Given the description of an element on the screen output the (x, y) to click on. 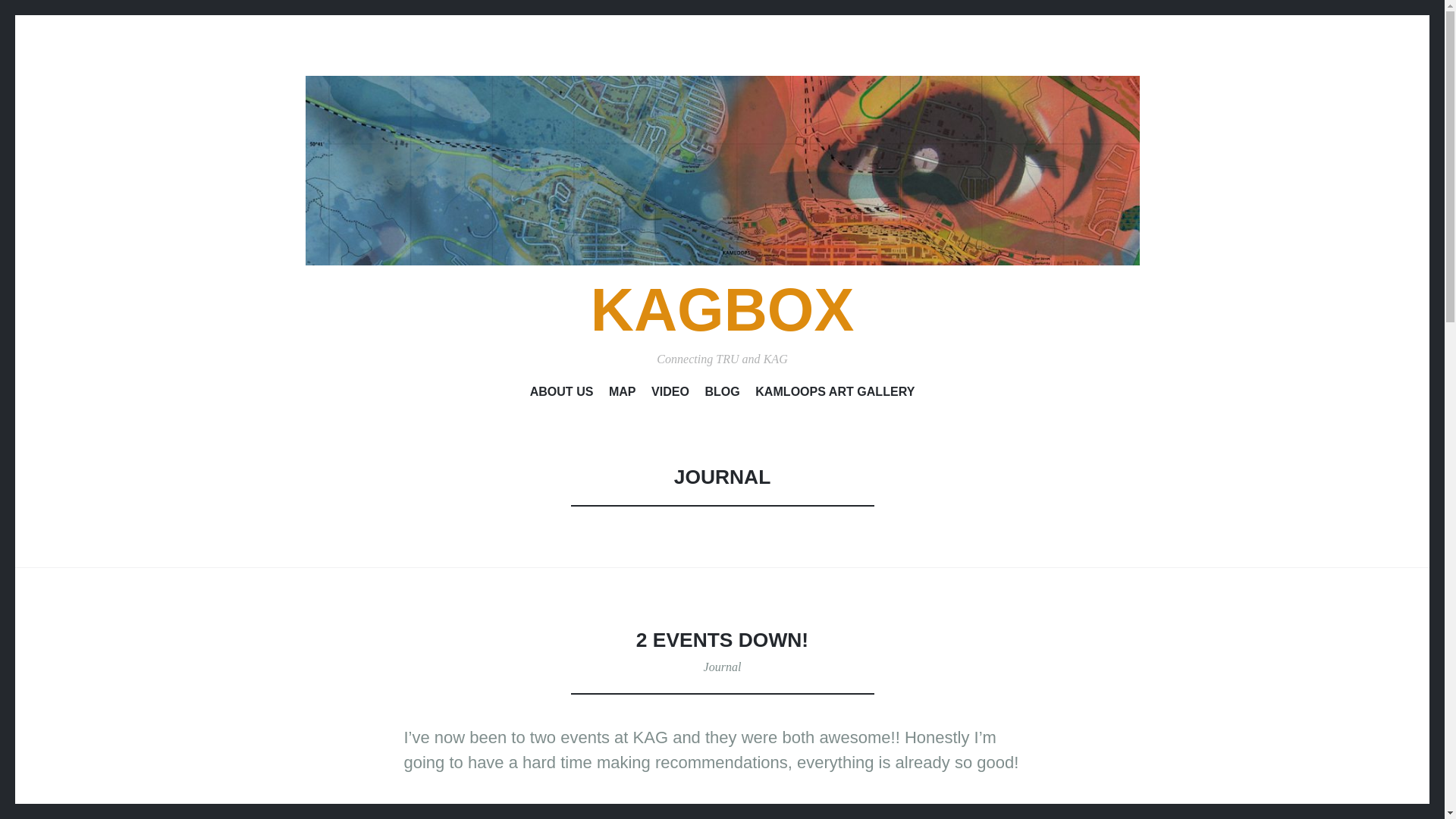
BLOG (721, 394)
VIDEO (669, 394)
ABOUT US (561, 394)
2 EVENTS DOWN! (722, 639)
MAP (622, 394)
KAMLOOPS ART GALLERY (834, 394)
KAGBOX (722, 309)
Journal (722, 666)
